Given the description of an element on the screen output the (x, y) to click on. 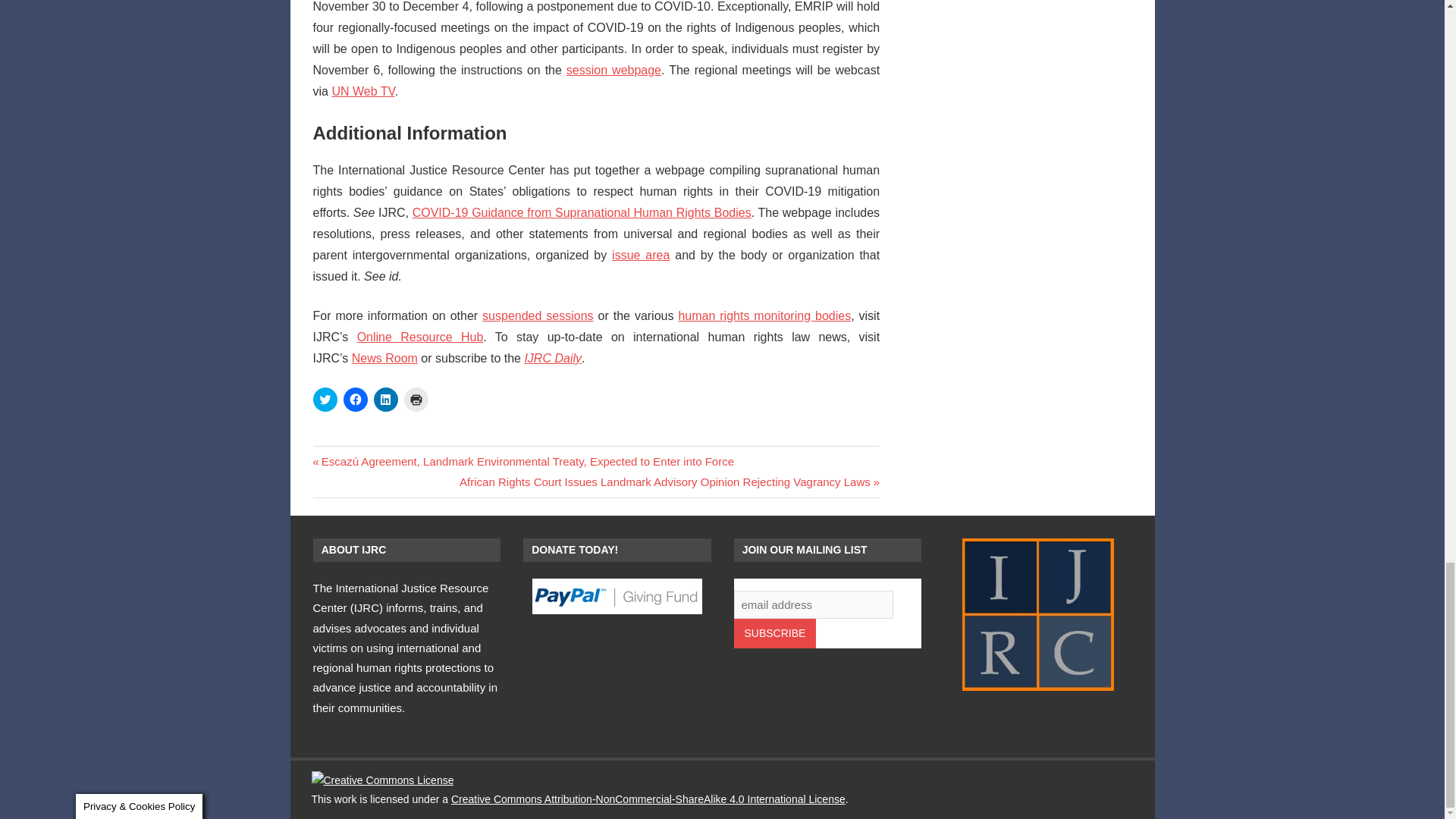
Click to print (415, 399)
Click to share on Facebook (354, 399)
Subscribe (774, 633)
Click to share on LinkedIn (384, 399)
Click to share on Twitter (324, 399)
